Given the description of an element on the screen output the (x, y) to click on. 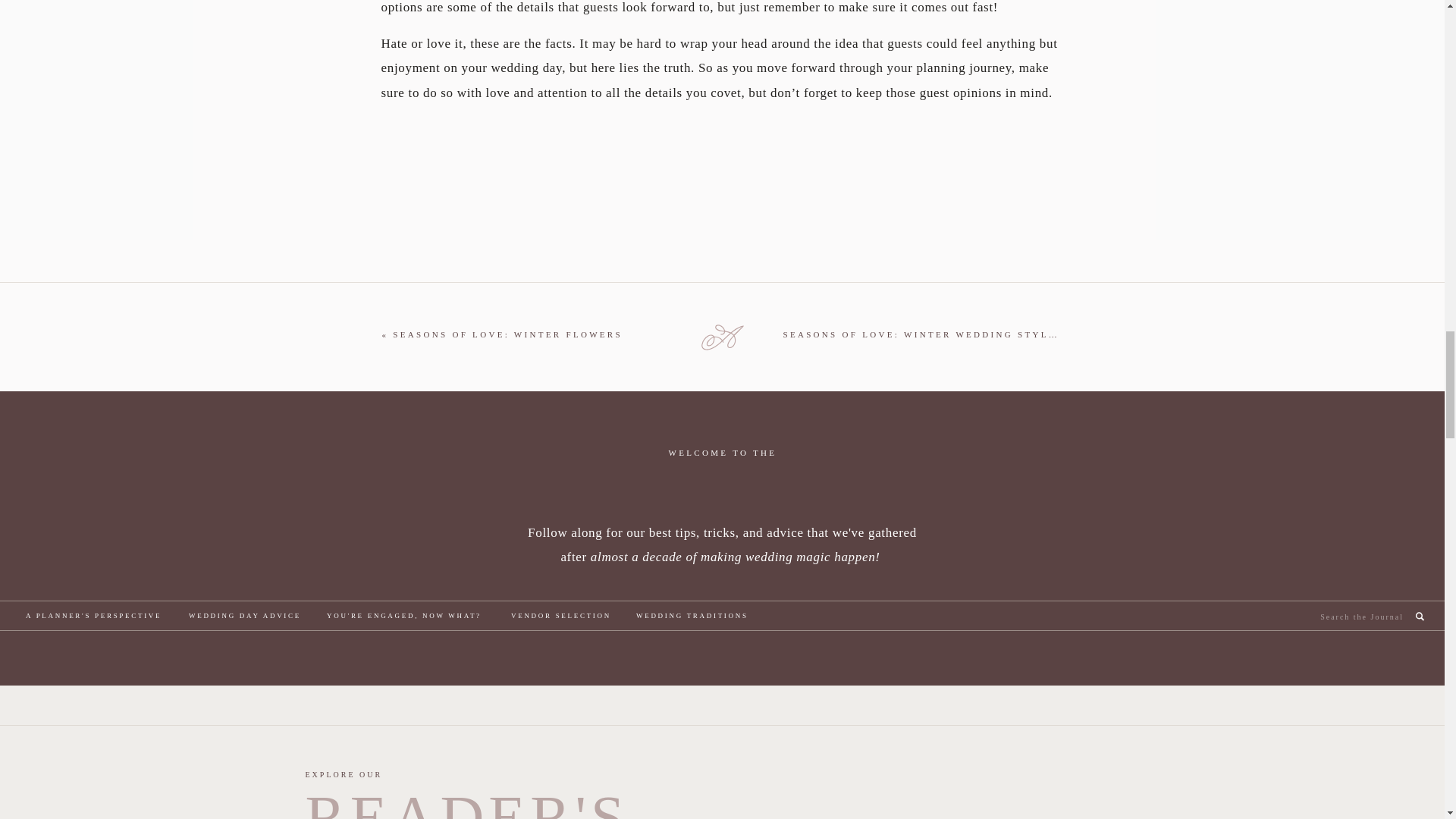
WEDDING TRADITIONS (695, 616)
VENDOR SELECTION (565, 616)
A PLANNER'S PERSPECTIVE (98, 616)
SEASONS OF LOVE: WINTER WEDDING STYLE (920, 334)
SEASONS OF LOVE: WINTER FLOWERS (508, 334)
YOU'RE ENGAGED, NOW WHAT? (410, 616)
WEDDING DAY ADVICE (249, 616)
